Given the description of an element on the screen output the (x, y) to click on. 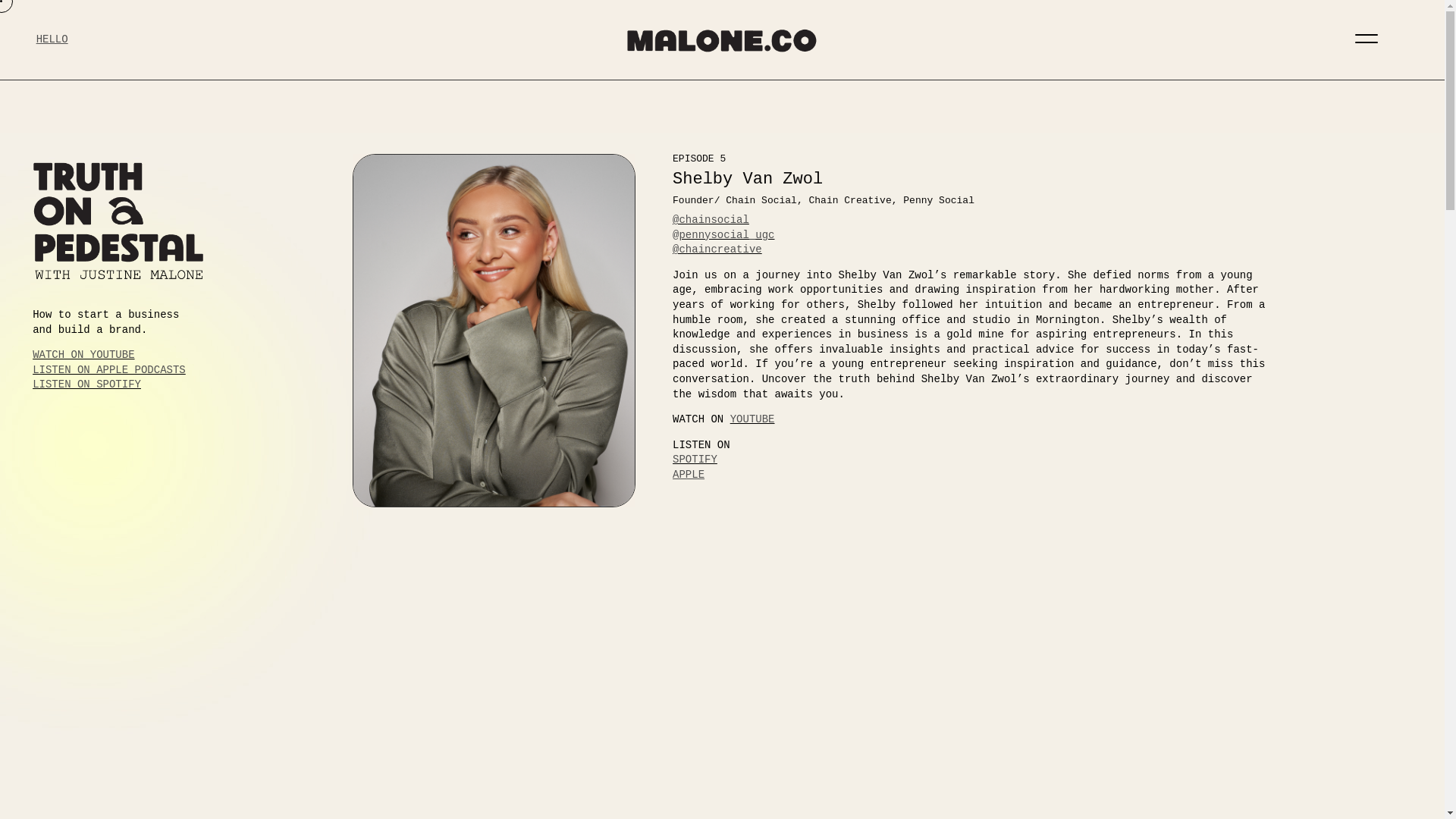
LISTEN ON SPOTIFY (86, 384)
Hello (52, 39)
SPOTIFY (694, 459)
TOAP (120, 221)
APPLE (688, 474)
HELLO (52, 39)
YOUTUBE (752, 419)
LISTEN ON APPLE PODCASTS (109, 369)
MaloneCo (722, 40)
WATCH ON YOUTUBE (82, 354)
